Given the description of an element on the screen output the (x, y) to click on. 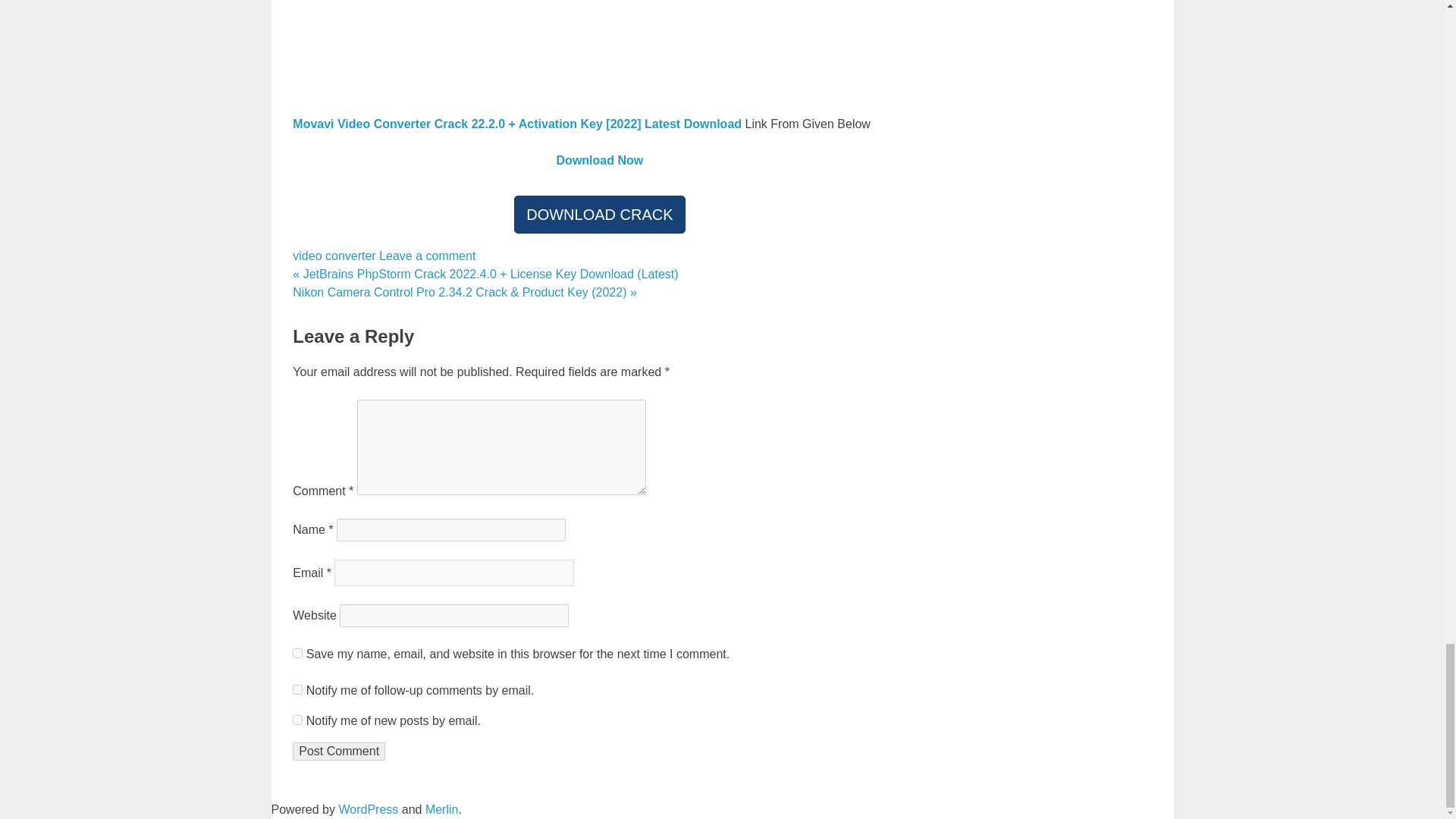
video converter (333, 255)
Post Comment (338, 751)
Merlin WordPress Theme (441, 809)
yes (297, 653)
Download Now (599, 160)
subscribe (297, 689)
subscribe (297, 719)
Leave a comment (427, 255)
WordPress (367, 809)
DOWNLOAD CRACK (598, 214)
YouTube video player (599, 45)
Post Comment (338, 751)
